Given the description of an element on the screen output the (x, y) to click on. 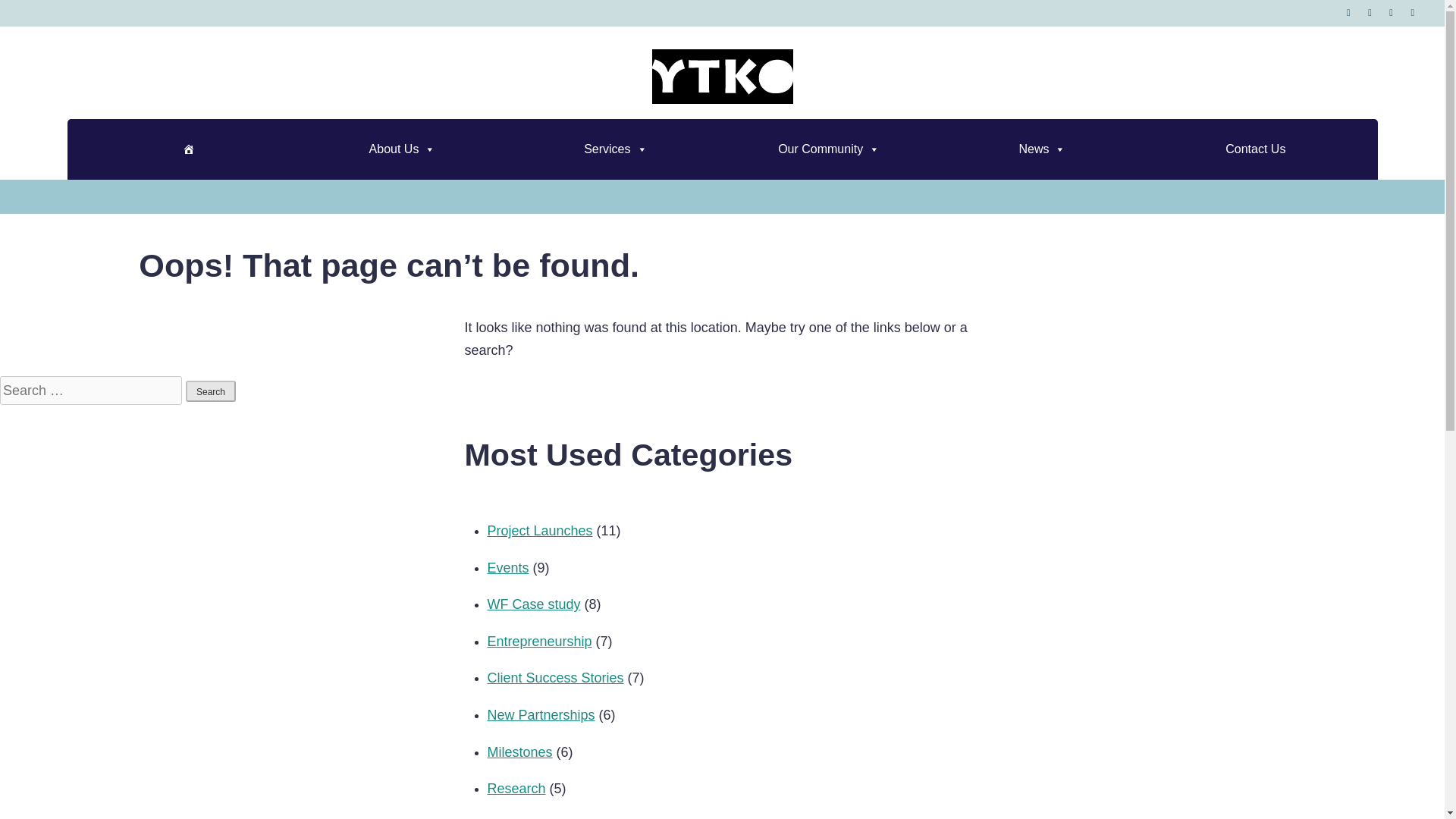
YTKO (889, 117)
Services (615, 149)
Search (210, 391)
Search (210, 391)
About Us (401, 149)
